Given the description of an element on the screen output the (x, y) to click on. 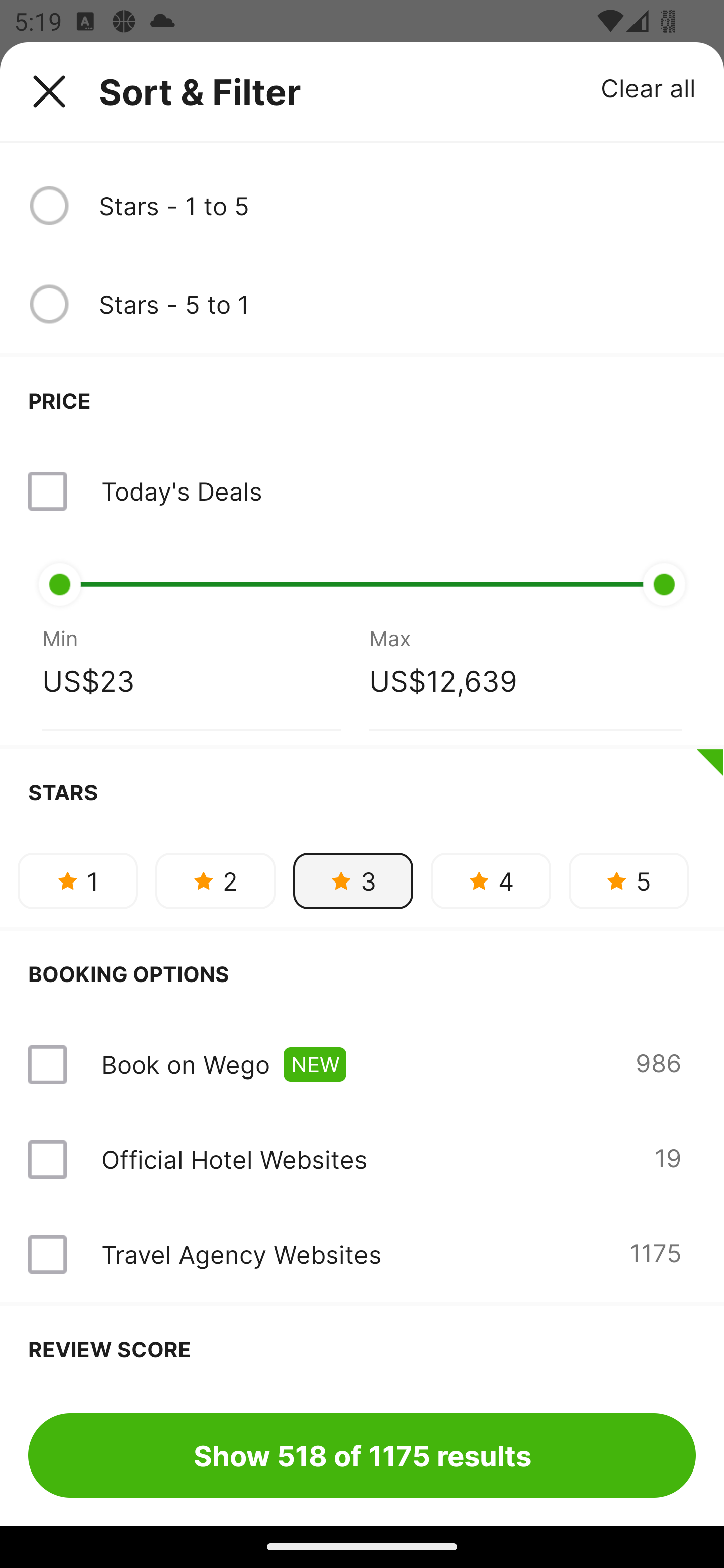
Clear all (648, 87)
Stars - 1 to 5 (396, 205)
Stars - 5 to 1 (396, 303)
Today's Deals (362, 491)
Today's Deals (181, 490)
1 (77, 880)
2 (214, 880)
3 (352, 880)
4 (491, 880)
5 (627, 880)
Book on Wego NEW 986 (362, 1064)
Book on Wego (184, 1064)
Official Hotel Websites 19 (362, 1159)
Official Hotel Websites (233, 1159)
Travel Agency Websites 1175 (362, 1254)
Travel Agency Websites (240, 1254)
Show 518 of 1175 results (361, 1454)
